Given the description of an element on the screen output the (x, y) to click on. 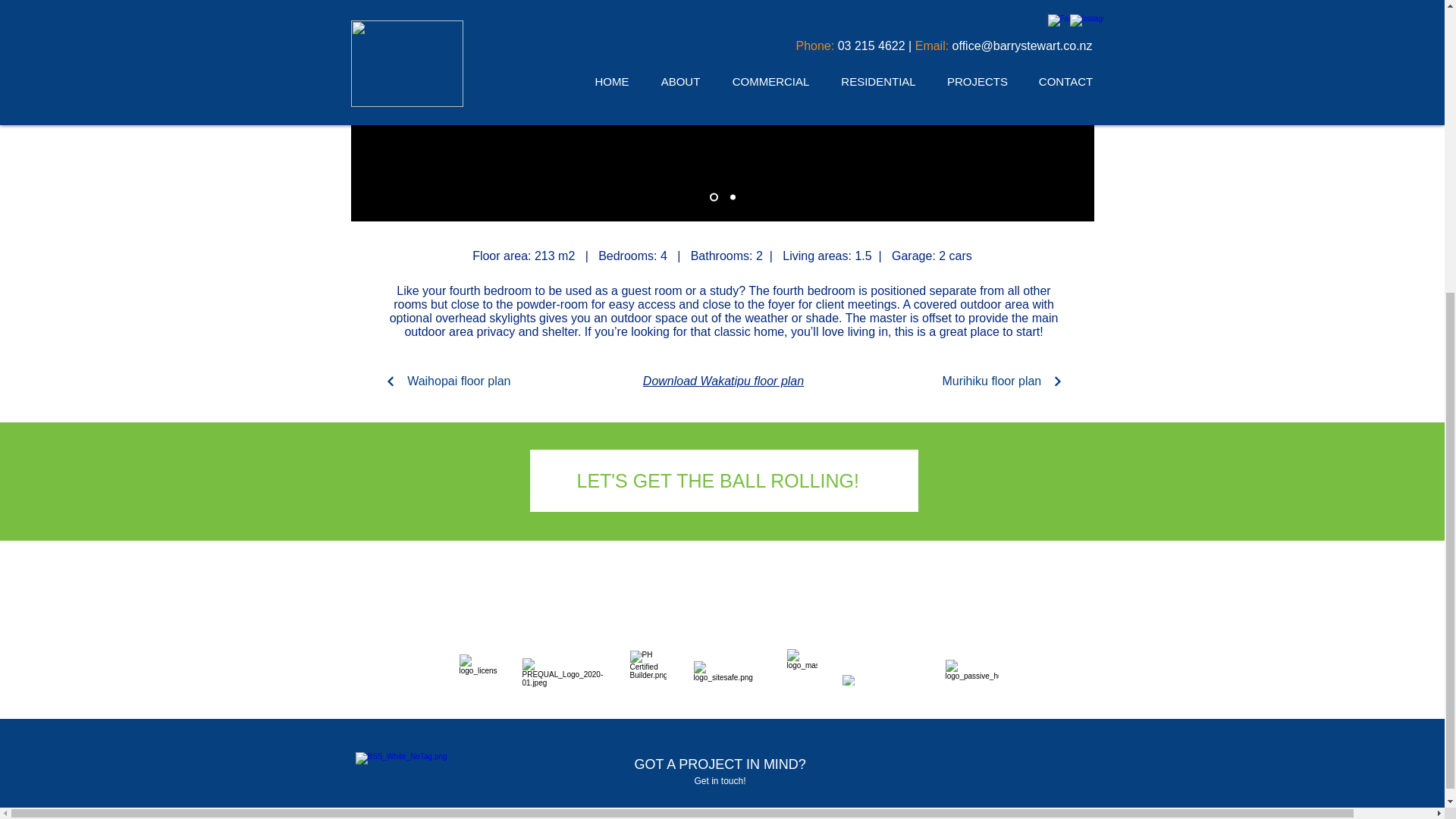
LET'S GET THE BALL ROLLING! (717, 480)
Waihopai floor plan (441, 381)
Murihiku floor plan (1008, 381)
Download Wakatipu floor plan (723, 380)
Get in touch! (719, 780)
